Given the description of an element on the screen output the (x, y) to click on. 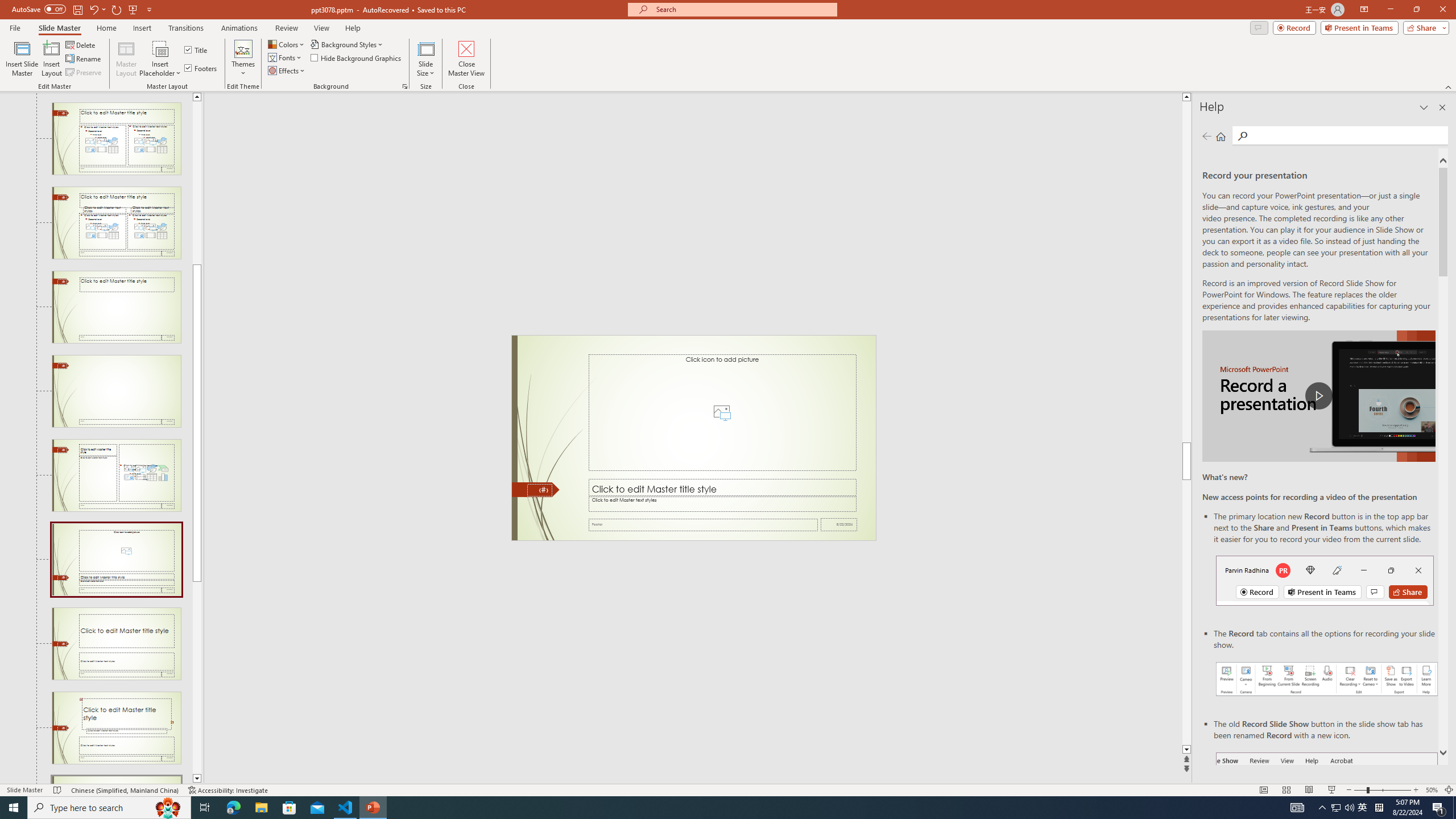
Previous page (1206, 136)
Master Layout... (126, 58)
Insert Layout (51, 58)
